Given the description of an element on the screen output the (x, y) to click on. 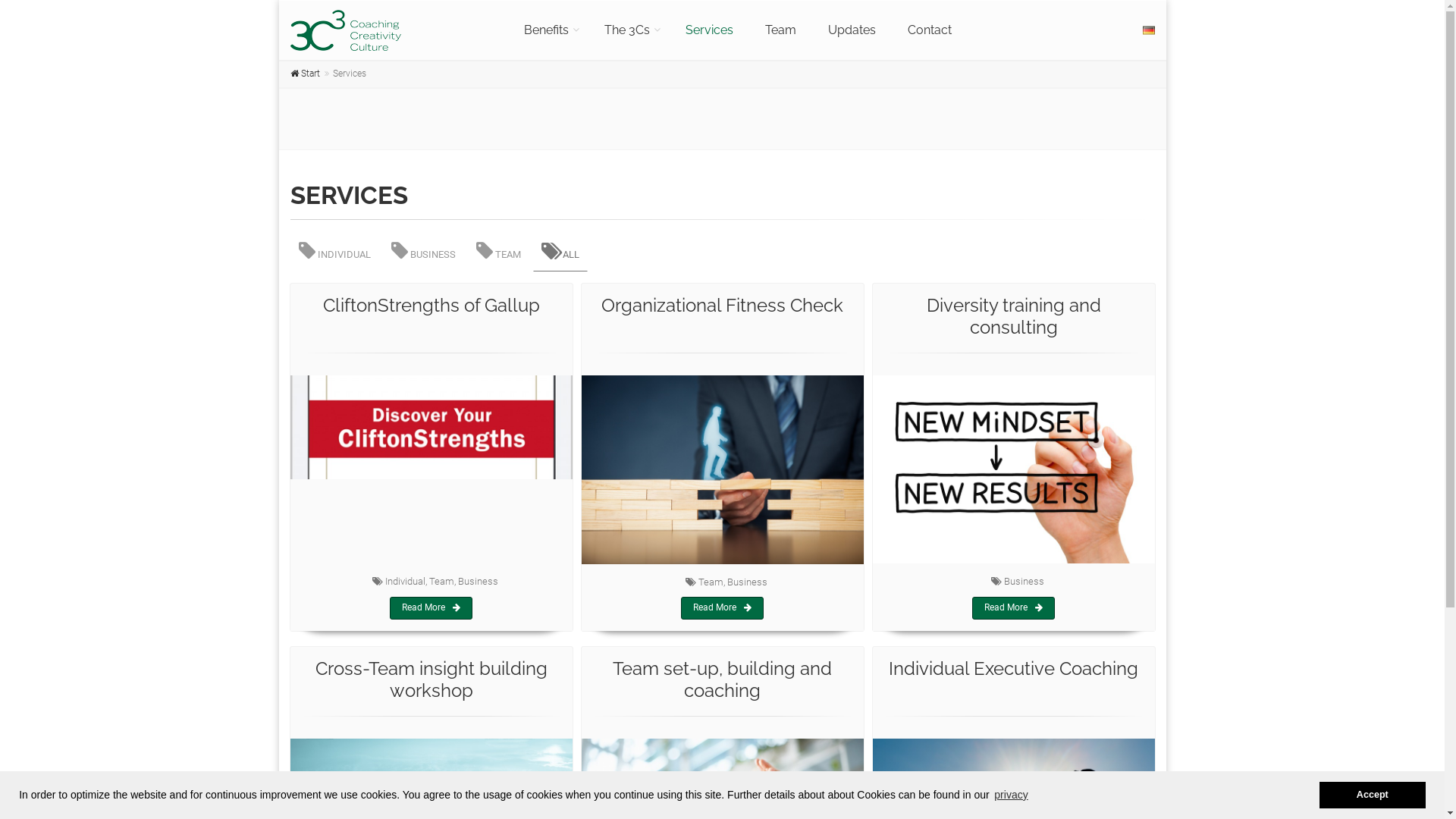
Read More Element type: text (430, 607)
Diversity training and consulting Element type: text (1013, 316)
Read More Element type: text (1013, 607)
Services Element type: text (709, 29)
Accept Element type: text (1372, 794)
The 3Cs Element type: text (628, 29)
Contact Element type: text (929, 29)
INDIVIDUAL Element type: text (333, 250)
CliftonStrengths of Gallup Element type: text (431, 305)
privacy Element type: text (1011, 794)
Start Element type: text (304, 73)
TEAM Element type: text (497, 250)
ALL Element type: text (559, 250)
BUSINESS Element type: text (422, 250)
Updates Element type: text (851, 29)
Cross-Team insight building workshop Element type: text (431, 679)
Benefits Element type: text (547, 29)
Organizational Fitness Check Element type: text (722, 305)
Team set-up, building and coaching Element type: text (721, 679)
in deutsch Element type: hover (1148, 29)
Team Element type: text (780, 29)
Read More Element type: text (721, 607)
Individual Executive Coaching Element type: text (1013, 668)
